Given the description of an element on the screen output the (x, y) to click on. 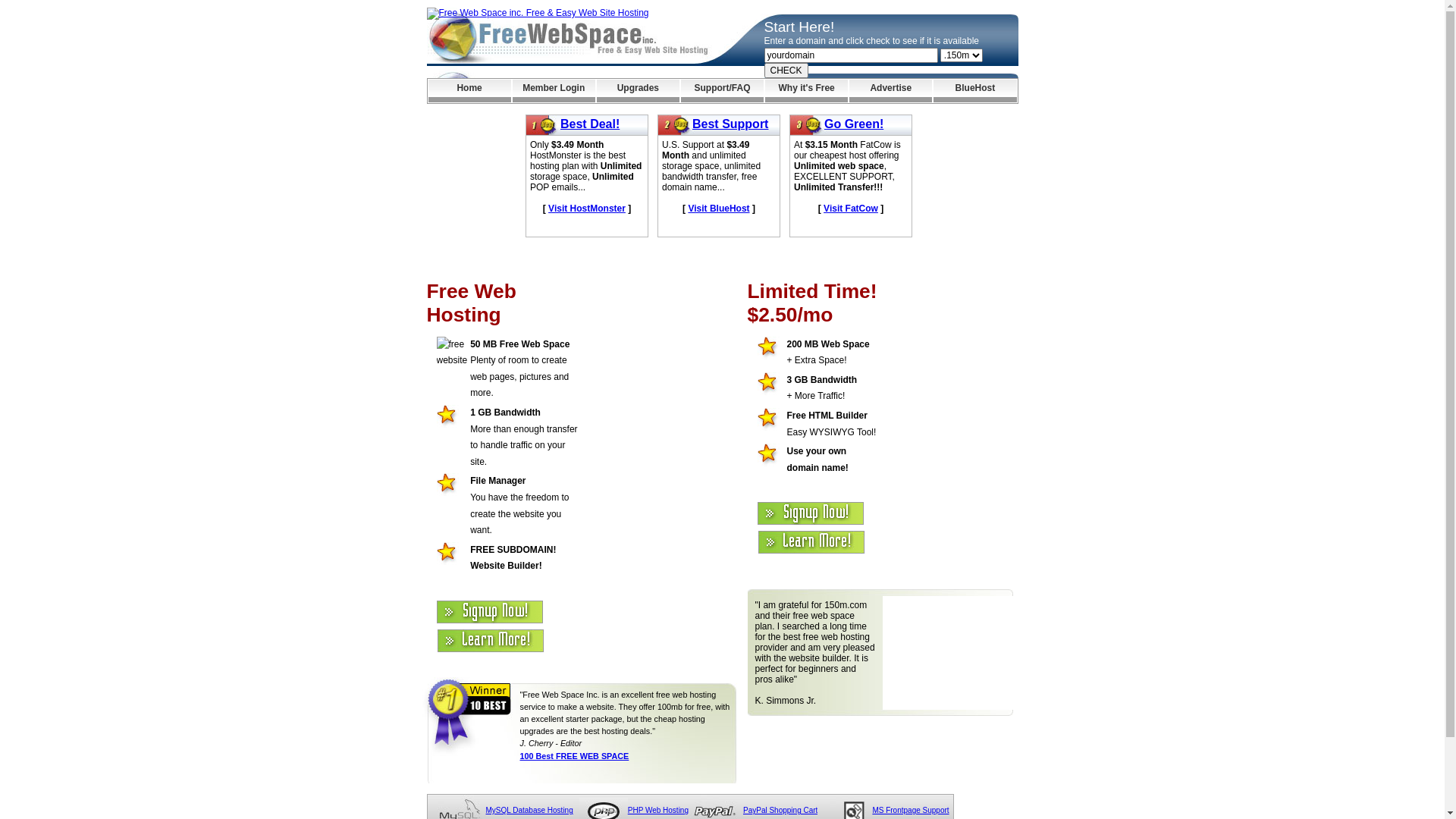
100 Best FREE WEB SPACE Element type: text (574, 755)
PHP Web Hosting Element type: text (657, 810)
CHECK Element type: text (786, 70)
Why it's Free Element type: text (806, 90)
Home Element type: text (468, 90)
MySQL Database Hosting Element type: text (528, 810)
Member Login Element type: text (553, 90)
MS Frontpage Support Element type: text (910, 810)
BlueHost Element type: text (974, 90)
Support/FAQ Element type: text (721, 90)
PayPal Shopping Cart Element type: text (780, 810)
Upgrades Element type: text (637, 90)
Advertise Element type: text (890, 90)
